Given the description of an element on the screen output the (x, y) to click on. 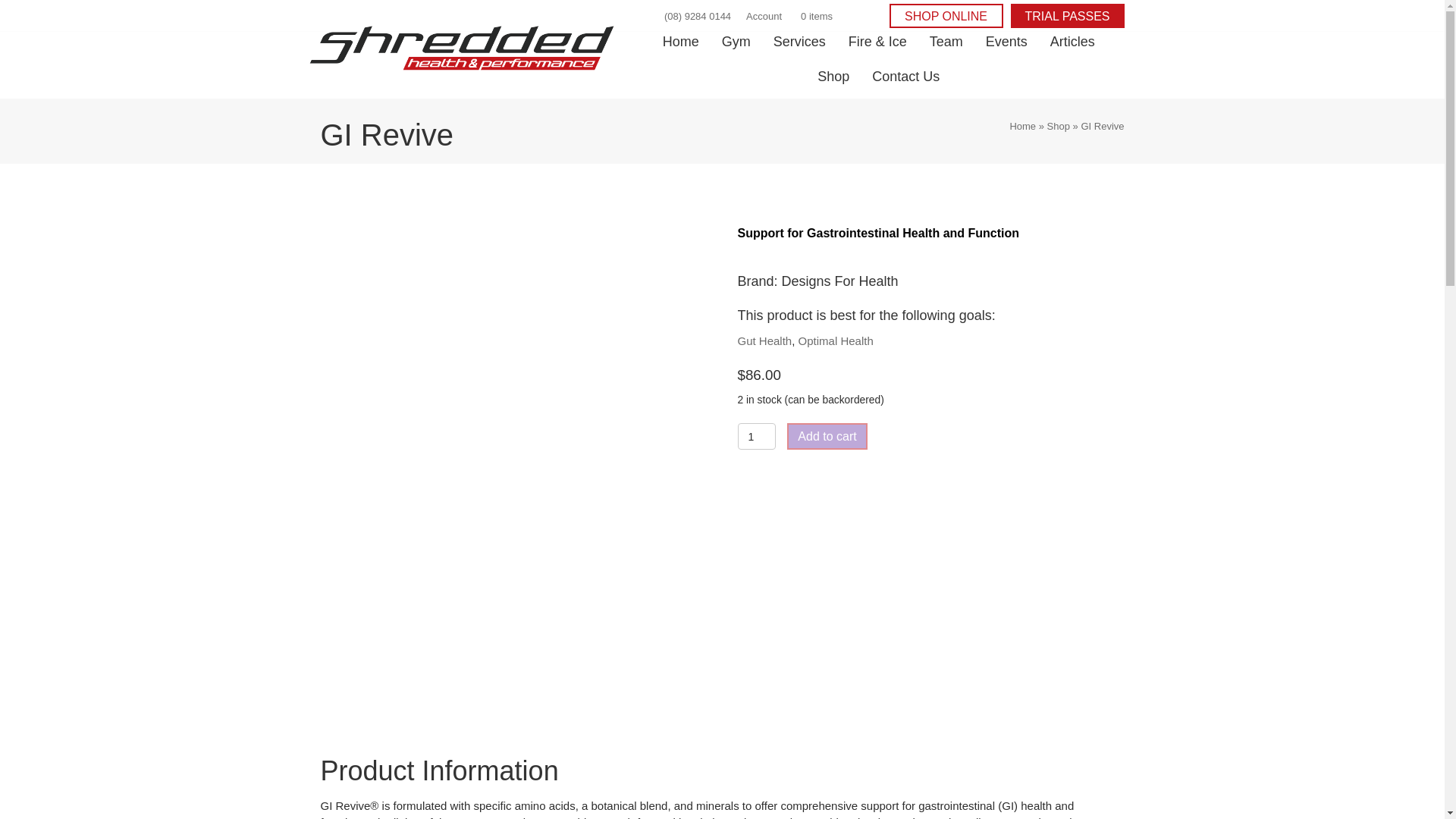
Shredded (461, 47)
1 (756, 436)
Start shopping (814, 16)
